Given the description of an element on the screen output the (x, y) to click on. 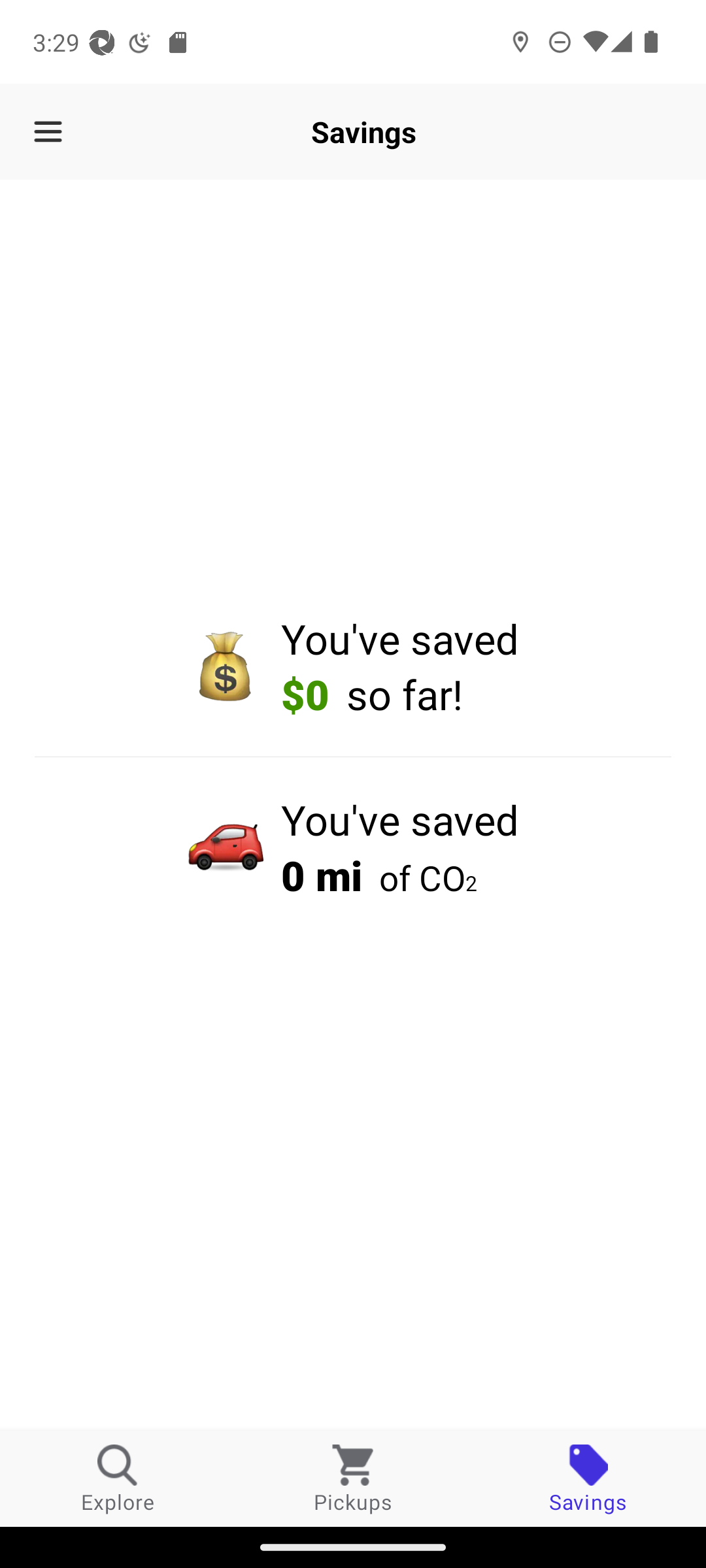
Navigate up (48, 131)
Explore (117, 1478)
Pickups (352, 1478)
